Given the description of an element on the screen output the (x, y) to click on. 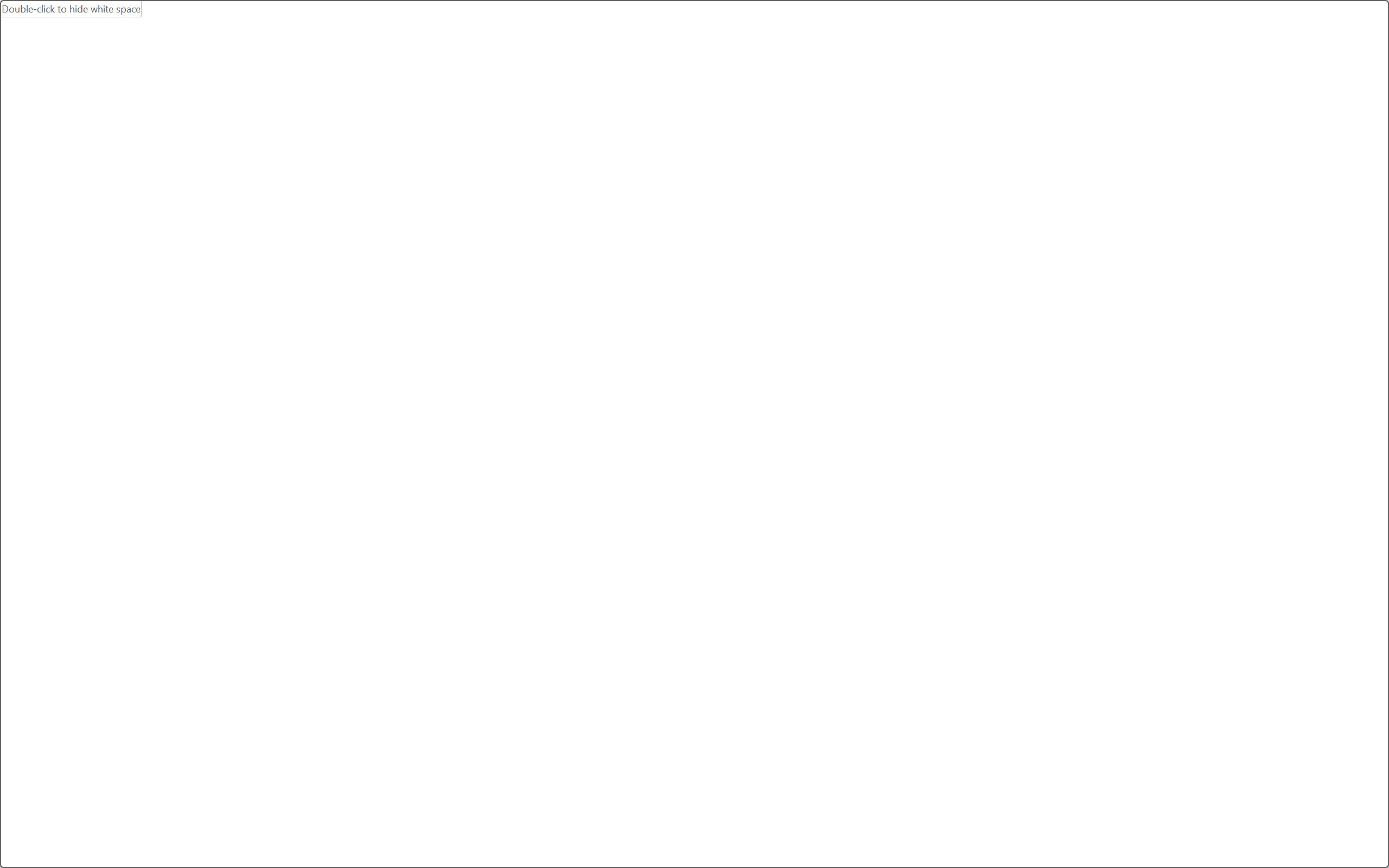
Enclose Characters... (356, 108)
Paragraph... (605, 136)
Multilevel List (461, 82)
Bold (94, 108)
Line and Paragraph Spacing (503, 108)
